Given the description of an element on the screen output the (x, y) to click on. 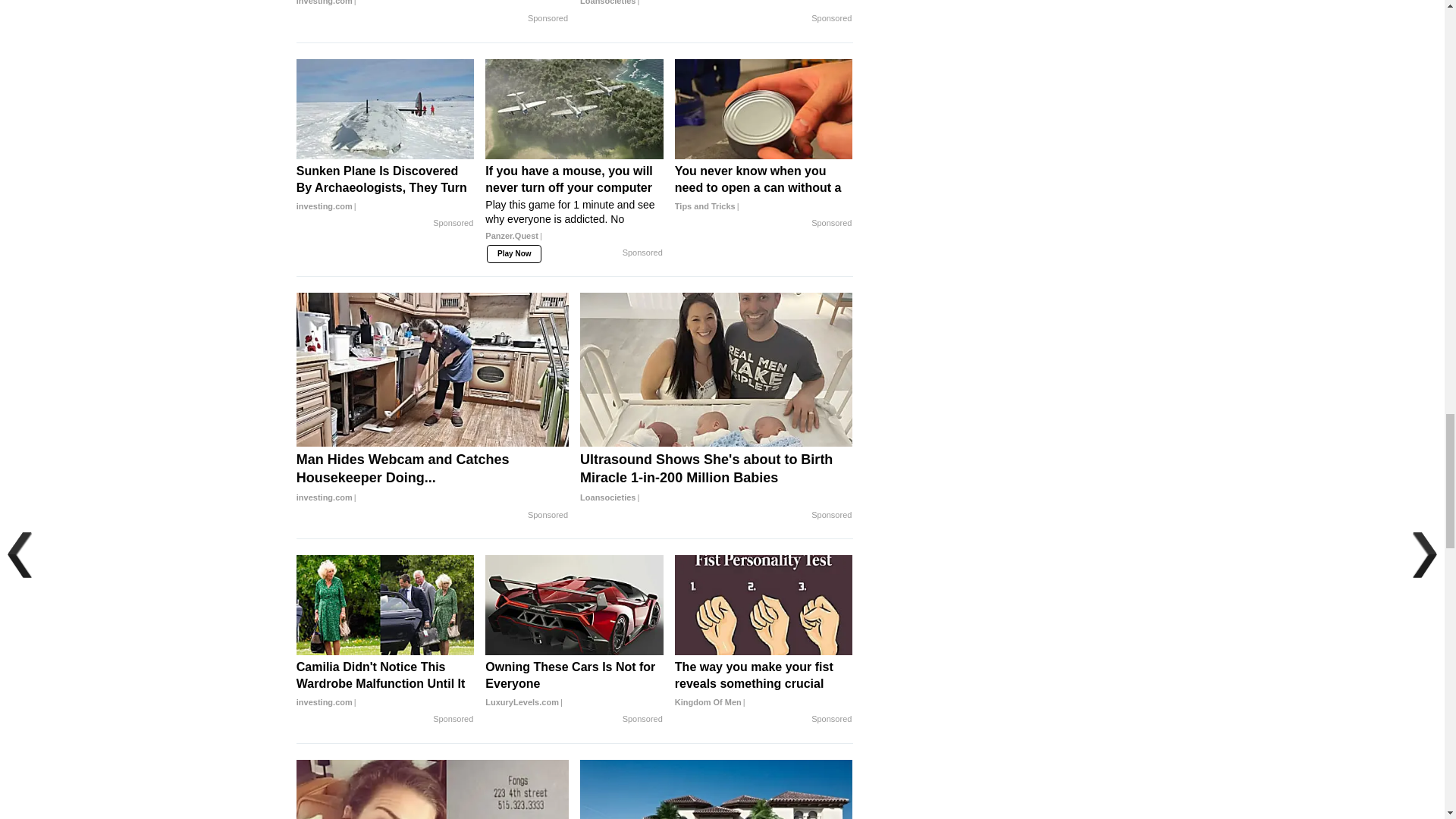
Why Camilla's Ring Raised Royal Eyebrows (433, 4)
